Given the description of an element on the screen output the (x, y) to click on. 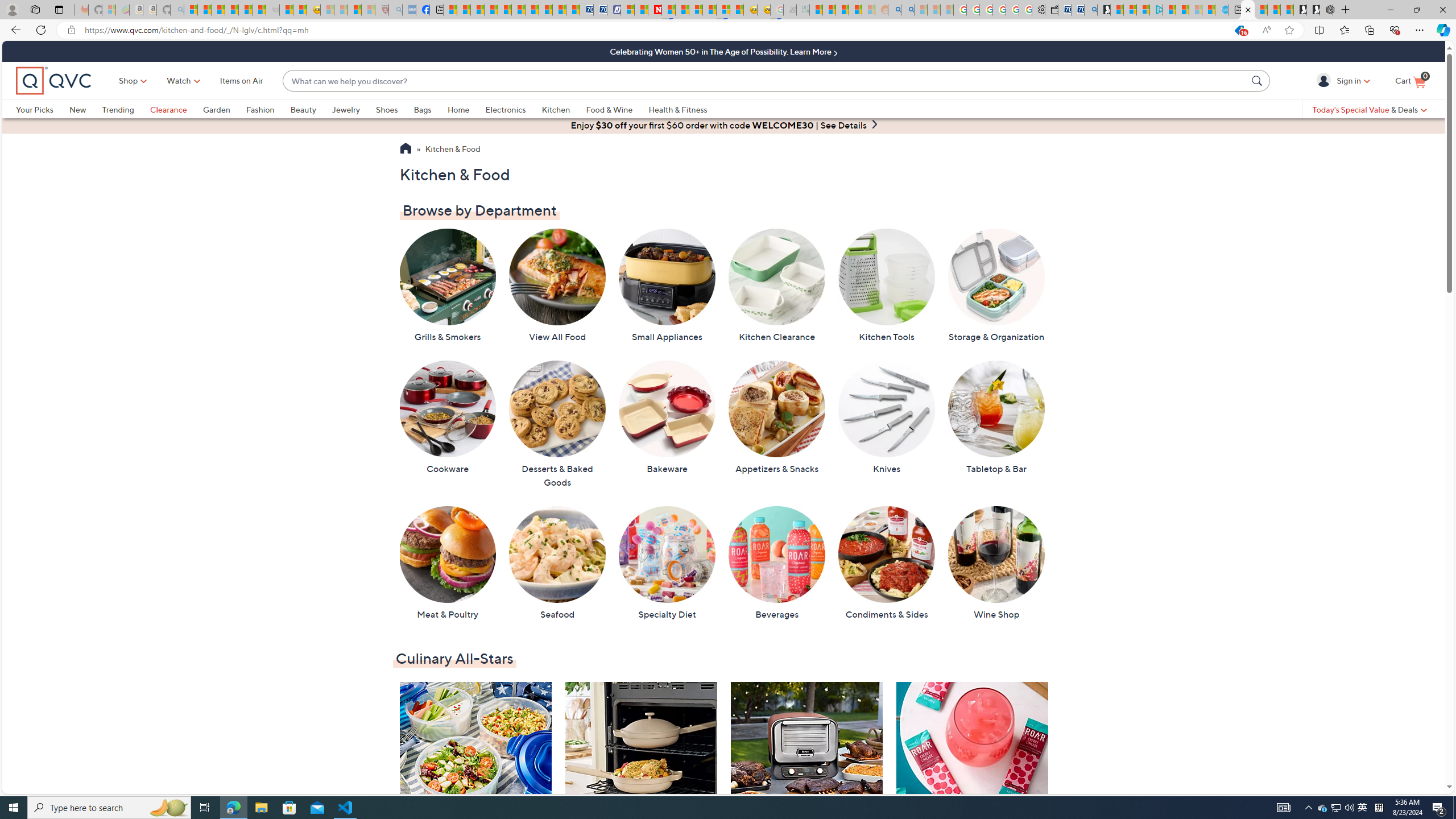
Today's Special Value & Deals (1369, 109)
Your Picks (34, 109)
Garden (216, 109)
